Given the description of an element on the screen output the (x, y) to click on. 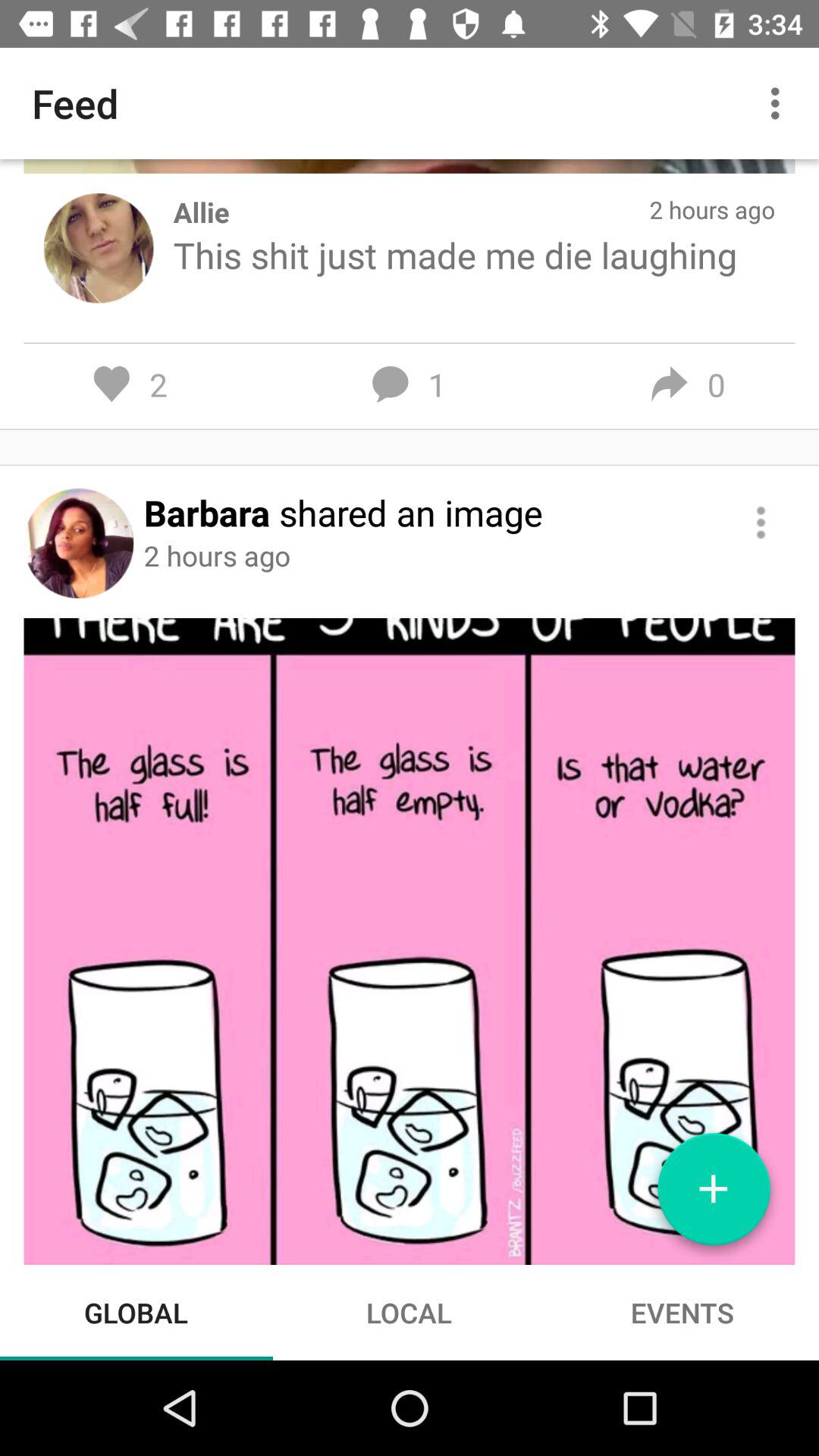
click item below this shit just (760, 522)
